Given the description of an element on the screen output the (x, y) to click on. 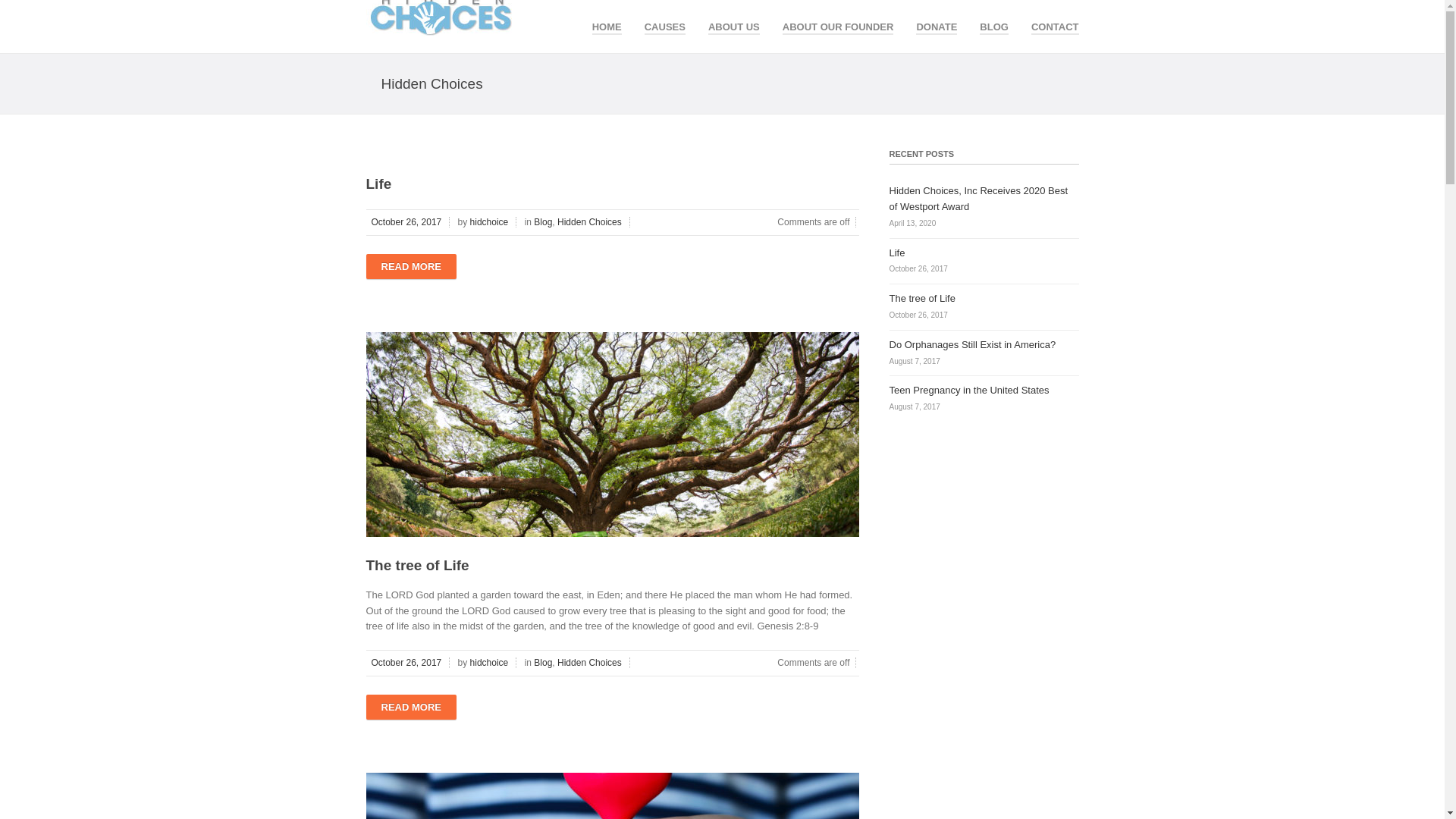
October 26, 2017 (407, 662)
Blog (542, 222)
Blog (542, 662)
October 26, 2017 (407, 222)
Permalink to Life (378, 183)
Hidden Choices (590, 222)
CONTACT (1054, 24)
The tree of Life (416, 565)
CAUSES (665, 24)
ABOUT OUR FOUNDER (838, 24)
